Given the description of an element on the screen output the (x, y) to click on. 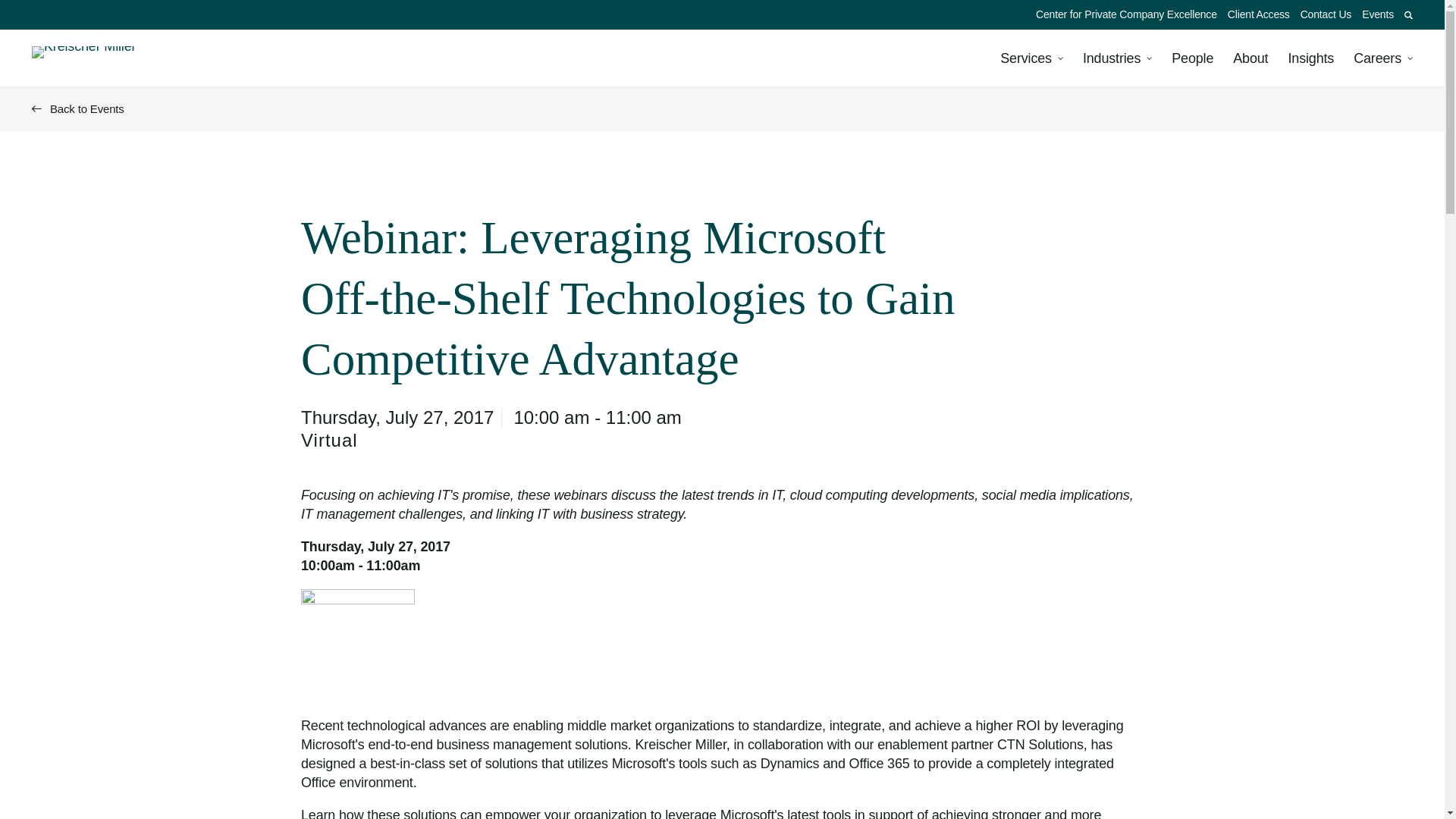
Contact Us (1326, 14)
Center for Private Company Excellence (1126, 14)
Industries (1117, 58)
Services (1031, 58)
Events (1377, 14)
Client Access (1259, 14)
